Given the description of an element on the screen output the (x, y) to click on. 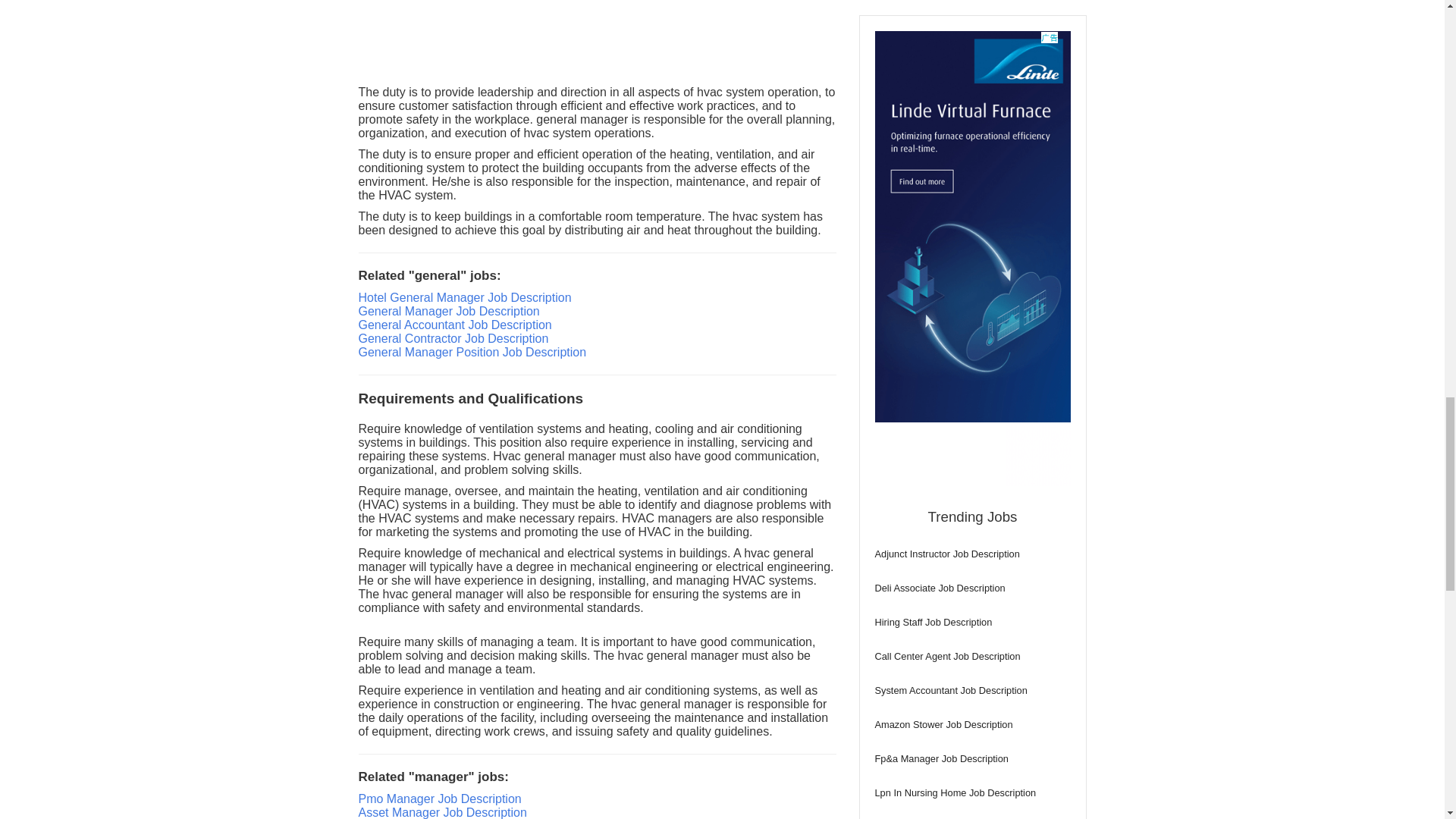
Hotel General Manager Job Description (464, 297)
General Contractor Job Description (453, 338)
General Accountant Job Description (454, 324)
Advertisement (596, 38)
General Manager Job Description (448, 310)
General Manager Position Job Description (472, 351)
Asset Manager Job Description (441, 812)
Pmo Manager Job Description (439, 798)
